Given the description of an element on the screen output the (x, y) to click on. 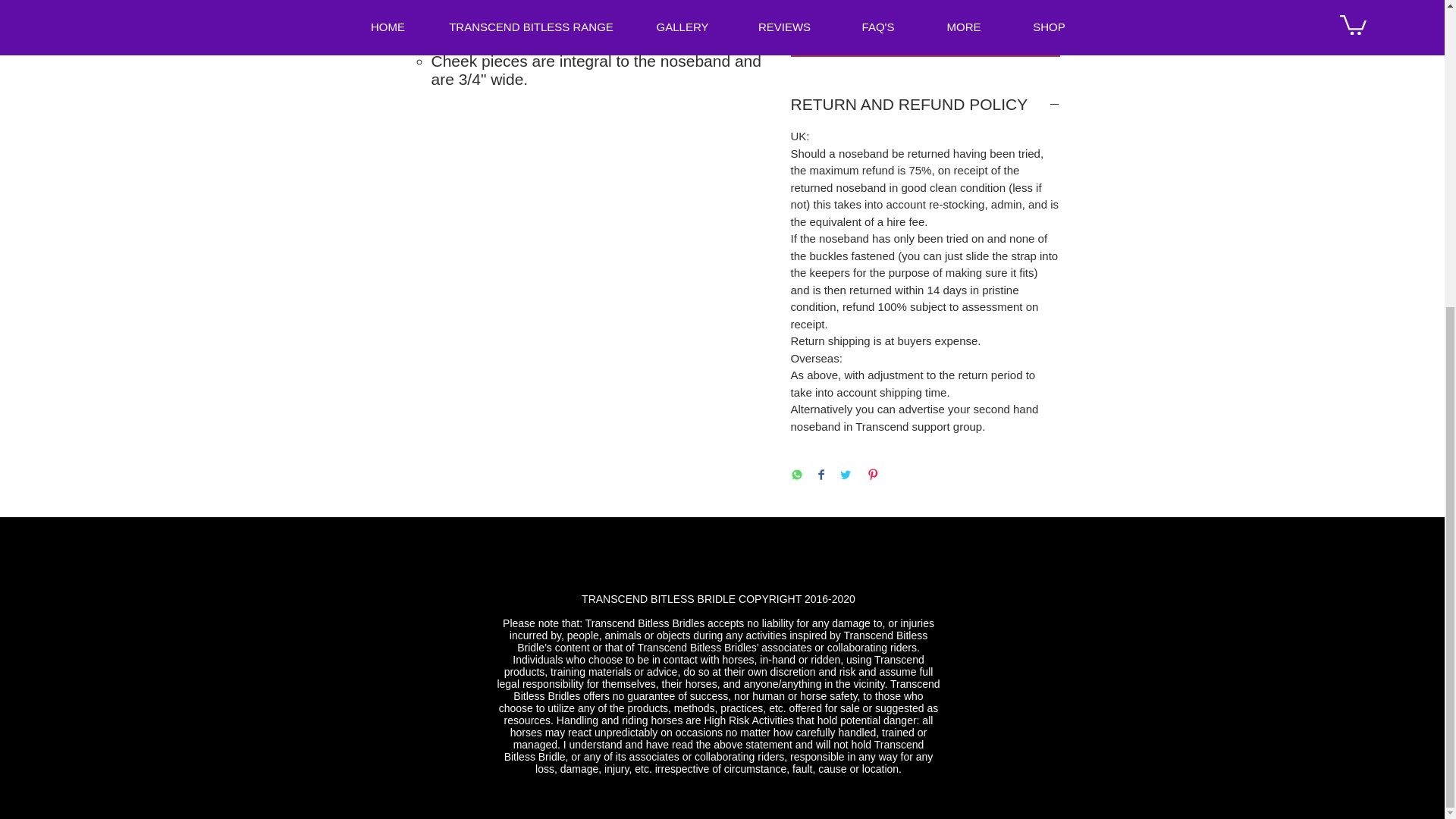
1 (818, 1)
RETURN AND REFUND POLICY (924, 104)
Add to Cart (924, 41)
